Given the description of an element on the screen output the (x, y) to click on. 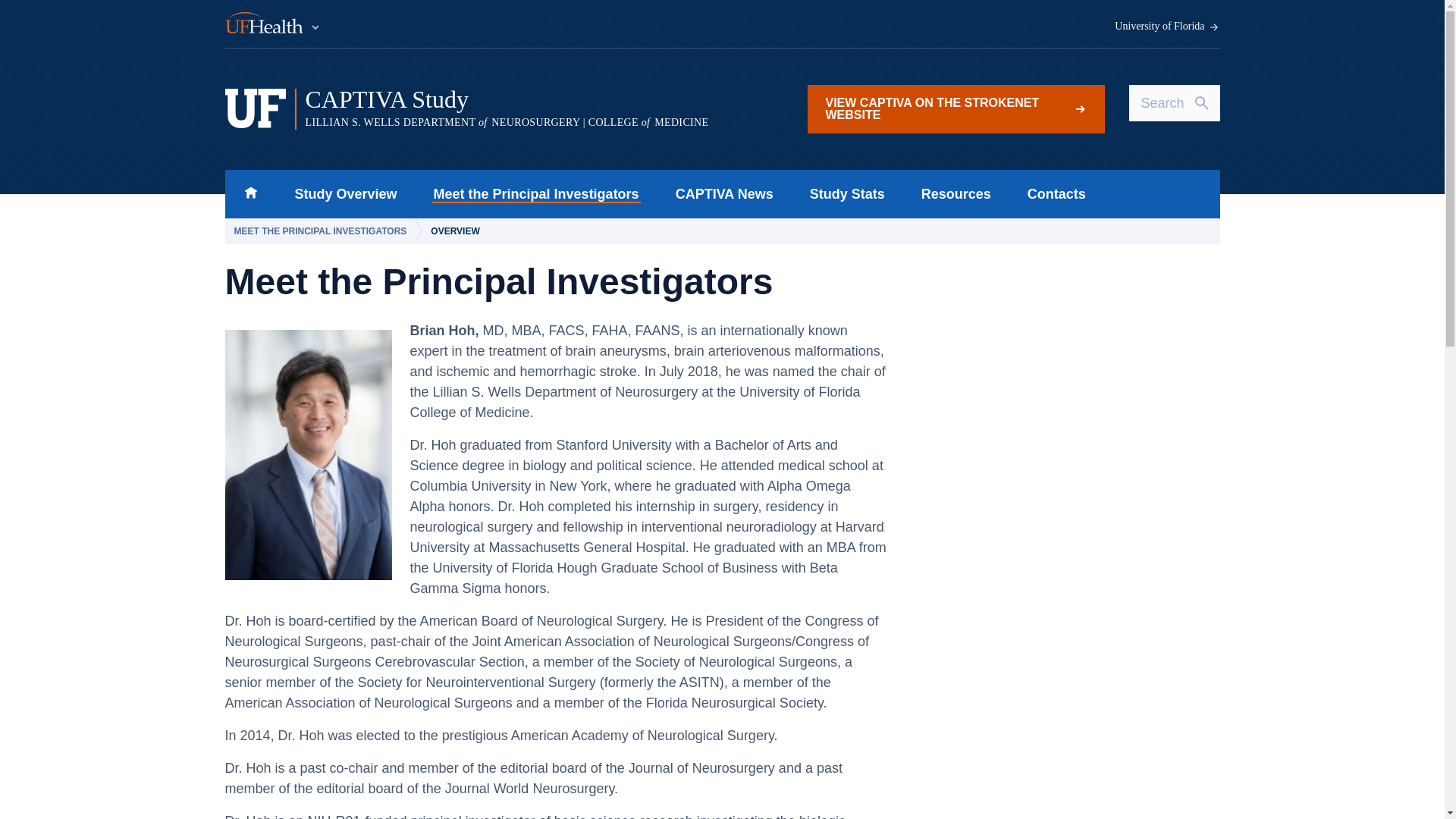
Resources (955, 193)
VIEW CAPTIVA ON THE STROKENET WEBSITE (954, 109)
UF Health (272, 24)
Study Overview (345, 193)
University of Florida (1167, 26)
Home (250, 193)
MEET THE PRINCIPAL INVESTIGATORS (536, 193)
Study Stats (323, 231)
CAPTIVA News (847, 193)
Contacts (725, 193)
